Given the description of an element on the screen output the (x, y) to click on. 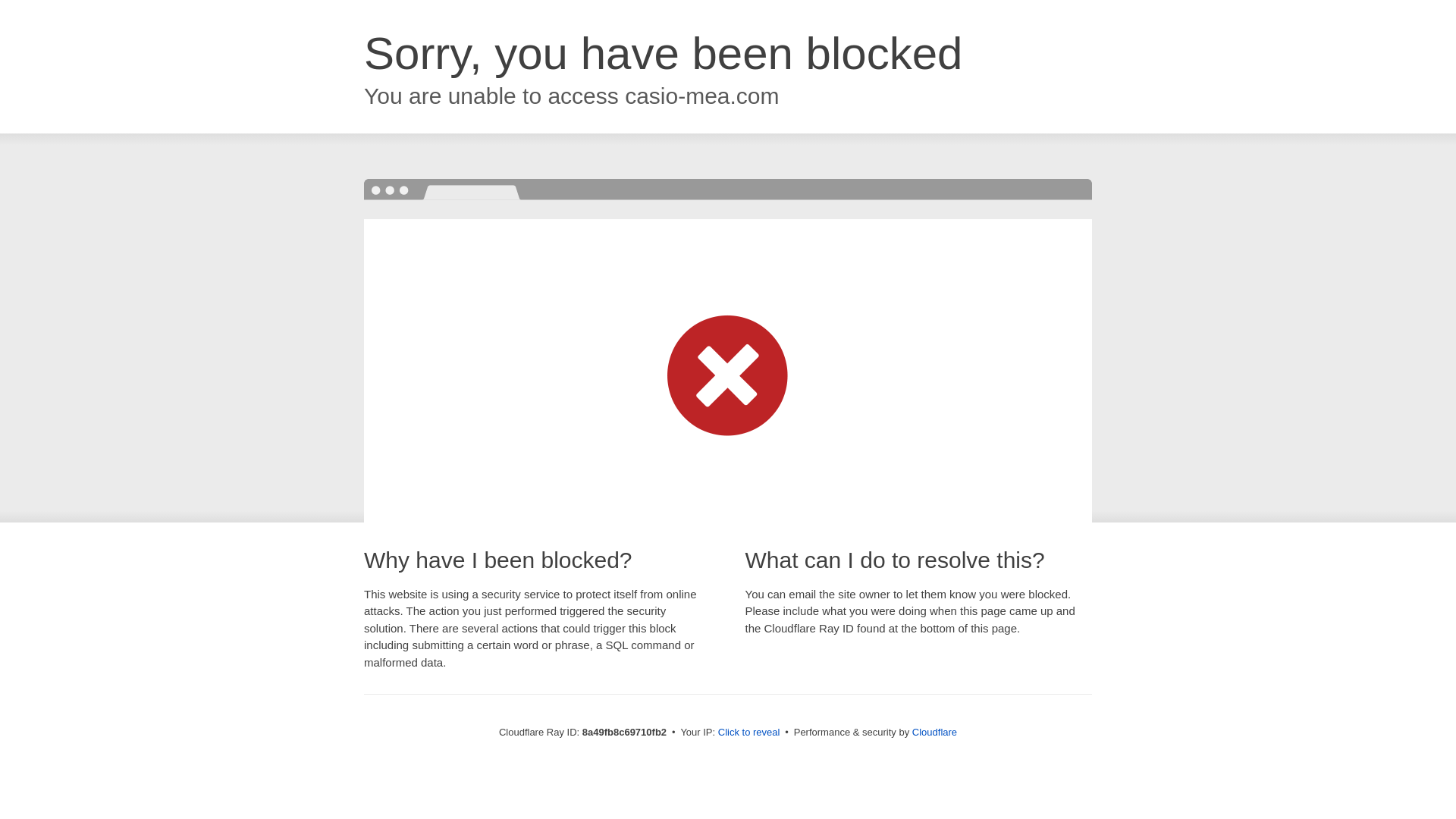
Cloudflare (934, 731)
Click to reveal (748, 732)
